Given the description of an element on the screen output the (x, y) to click on. 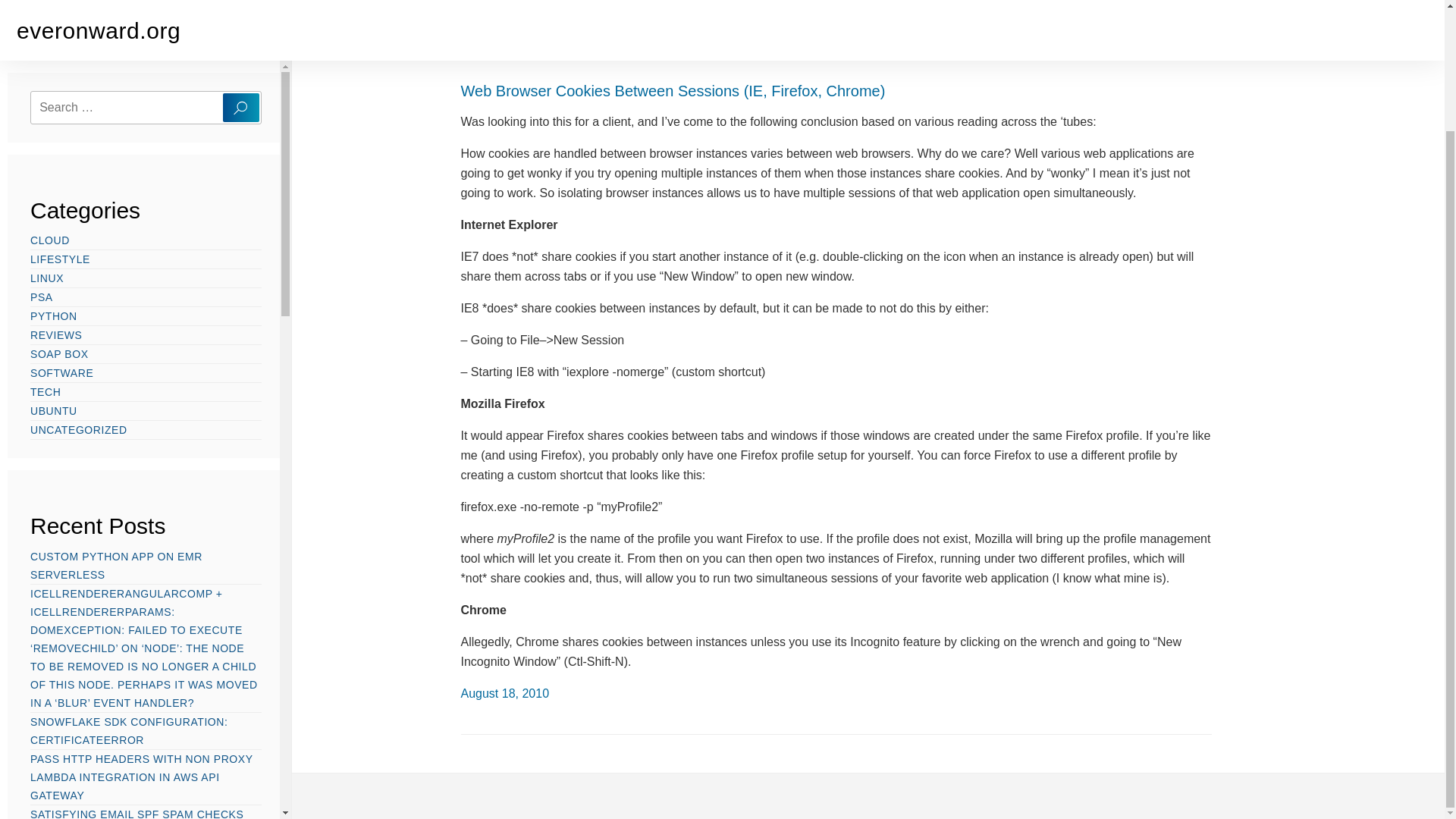
UBUNTU (53, 265)
REVIEWS (56, 189)
LIFESTYLE (60, 113)
TECH (45, 246)
PSA (41, 151)
UNCATEGORIZED (79, 284)
SOFTWARE (61, 227)
CUSTOM PYTHON APP ON EMR SERVERLESS (116, 419)
LINUX (47, 132)
SNOWFLAKE SDK CONFIGURATION: CERTIFICATEERROR (128, 585)
PYTHON (53, 170)
CLOUD (49, 94)
SOAP BOX (59, 208)
